Given the description of an element on the screen output the (x, y) to click on. 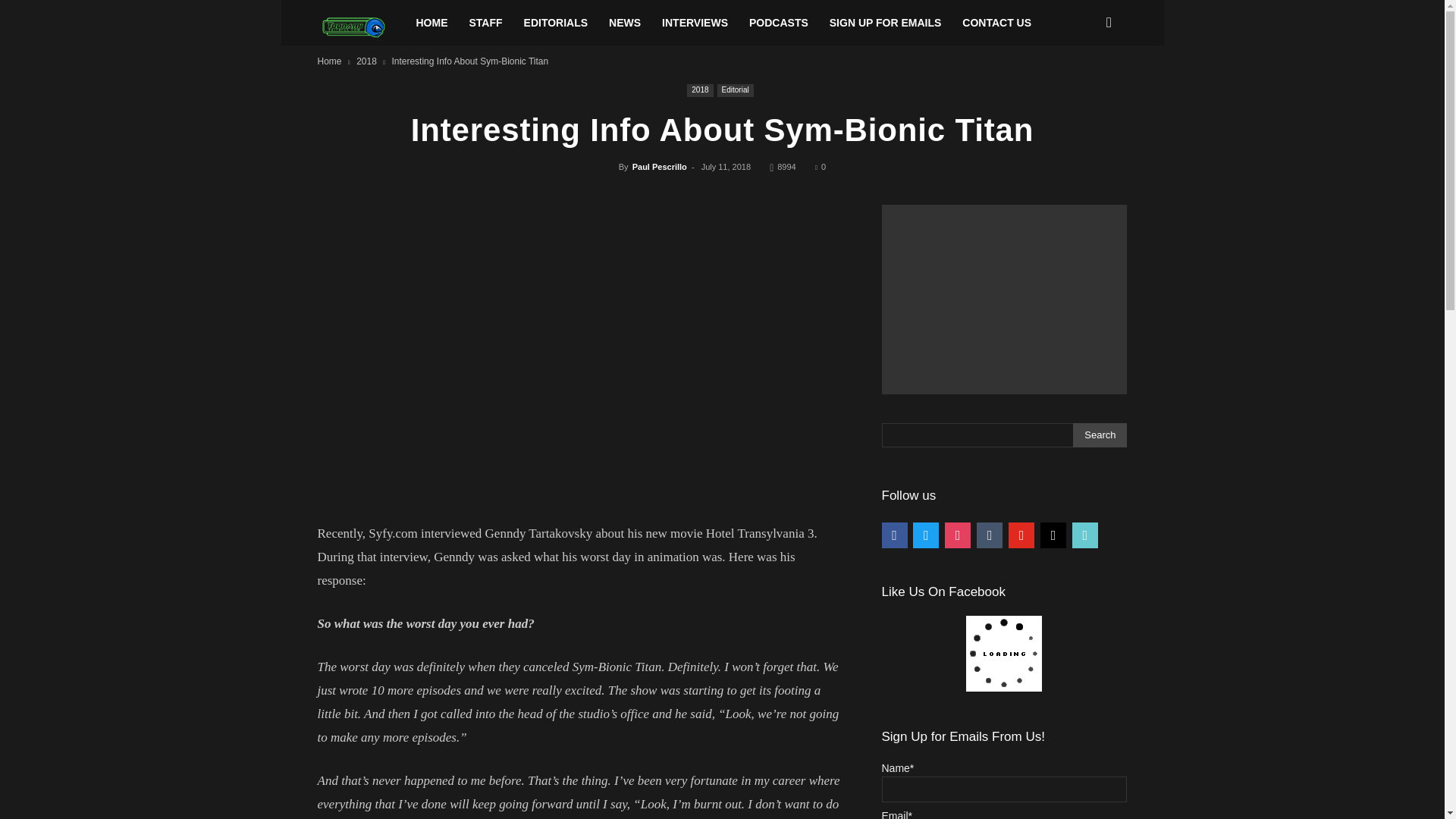
Default Label (1021, 534)
Instagram (957, 534)
STAFF (485, 22)
Default Label (989, 534)
CONTACT US (997, 22)
NEWS (624, 22)
Facebook (893, 534)
View all posts in 2018 (366, 61)
Search (1099, 435)
Toonami Faithful (360, 26)
HOME (431, 22)
EDITORIALS (555, 22)
INTERVIEWS (694, 22)
PODCASTS (778, 22)
Twitter (925, 534)
